Given the description of an element on the screen output the (x, y) to click on. 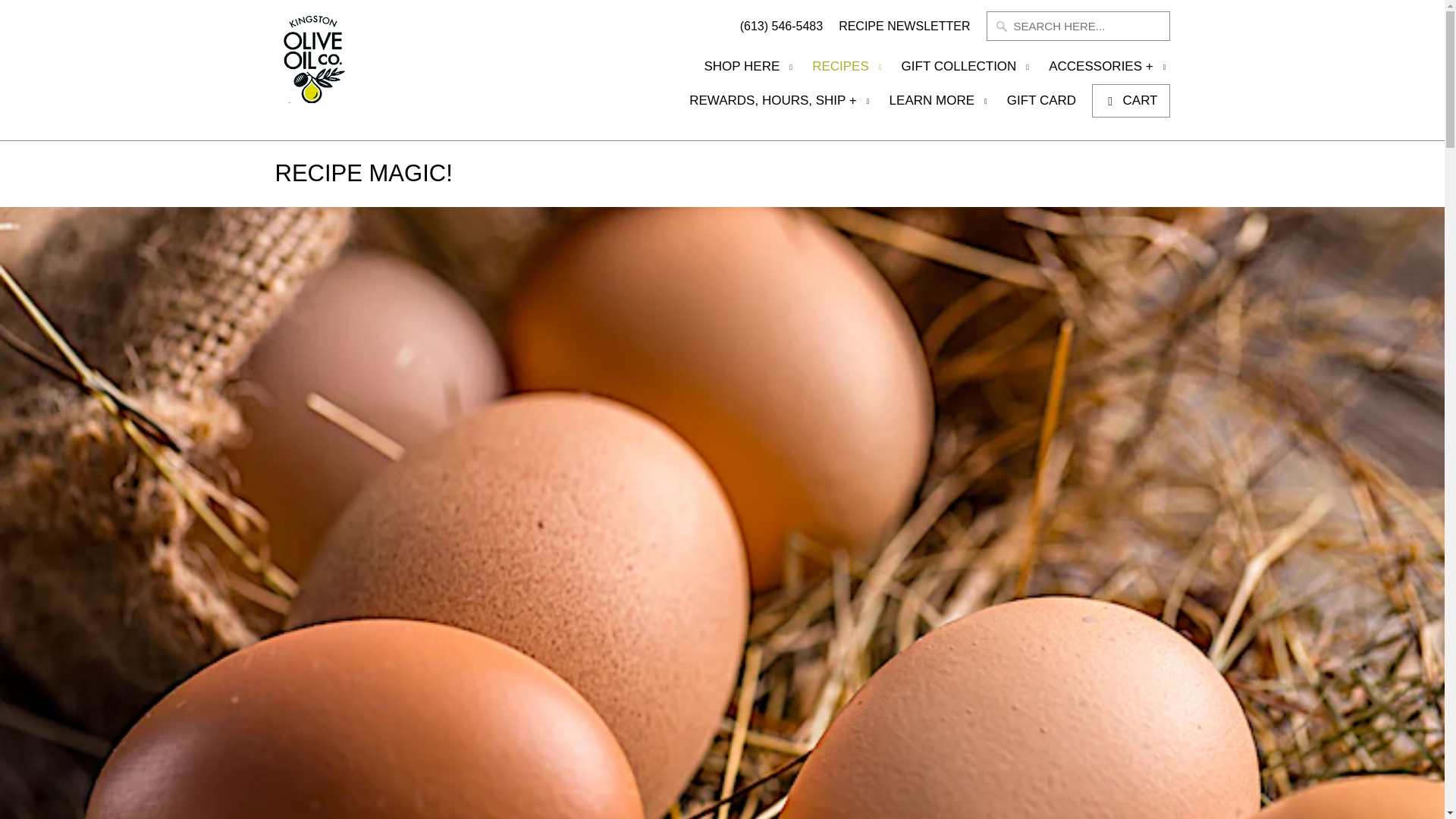
KINGSTON OLIVE OIL COMPANY (344, 69)
SHOP HERE (749, 71)
Cart (1130, 100)
RECIPE NEWSLETTER (903, 30)
RECIPES (848, 71)
RECIPE MAGIC! (363, 172)
